Given the description of an element on the screen output the (x, y) to click on. 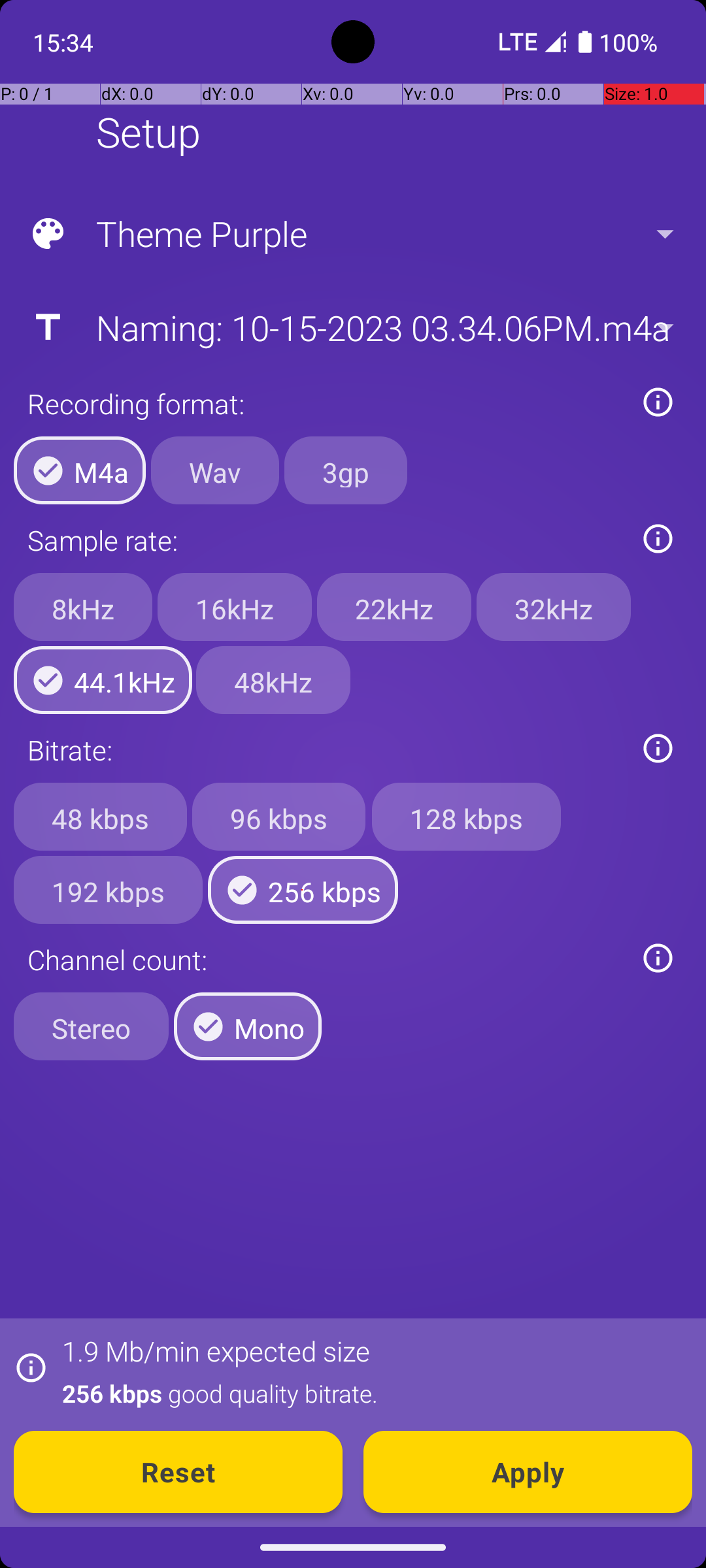
1.9 Mb/min expected size Element type: android.widget.TextView (215, 1350)
256 kbps good quality bitrate. Element type: android.widget.TextView (370, 1392)
Naming: 10-15-2023 03.34.06PM.m4a Element type: android.widget.TextView (352, 327)
